Given the description of an element on the screen output the (x, y) to click on. 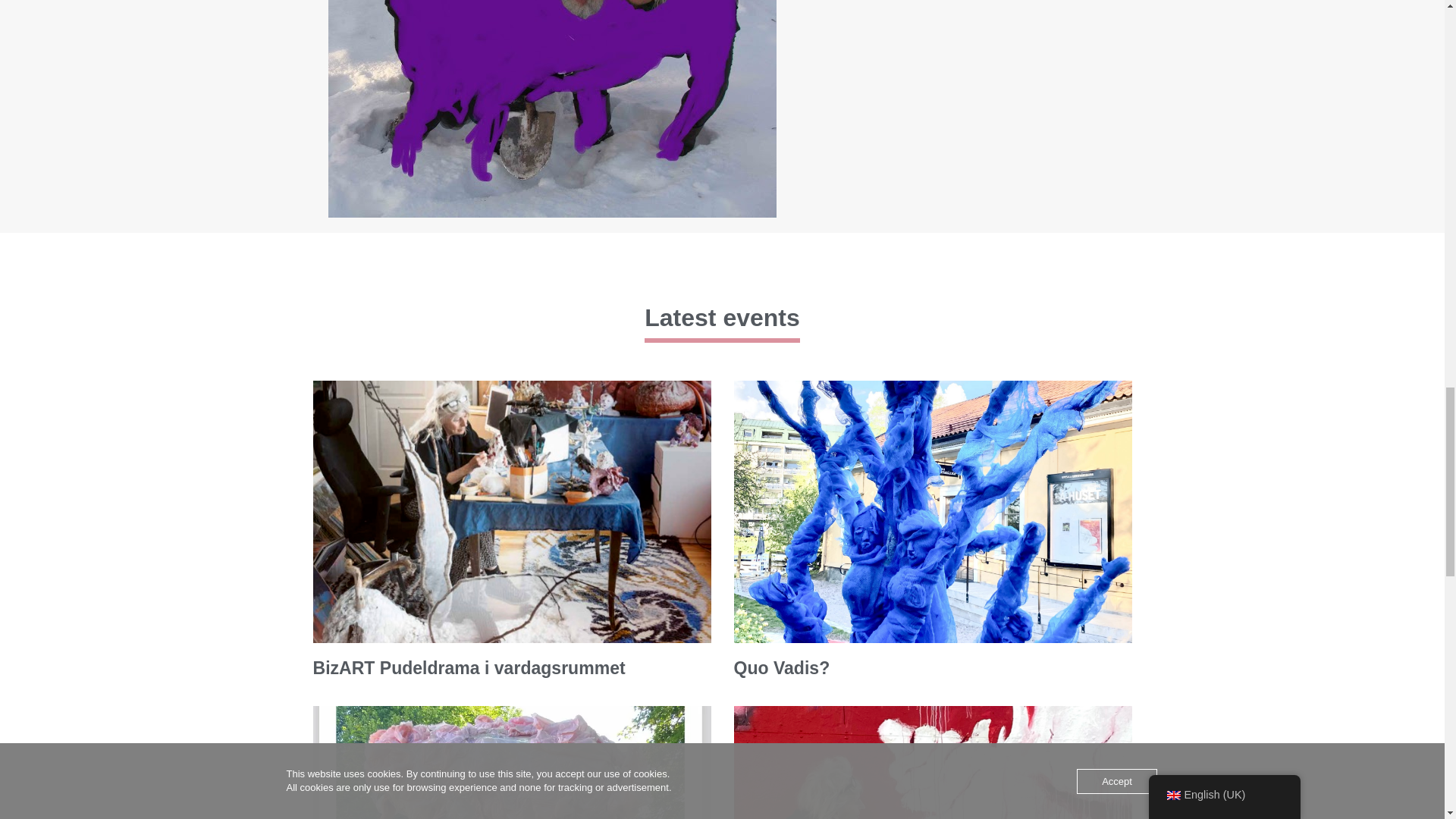
BizART Pudeldrama i vardagsrummet (468, 668)
Quo Vadis? (781, 668)
